Given the description of an element on the screen output the (x, y) to click on. 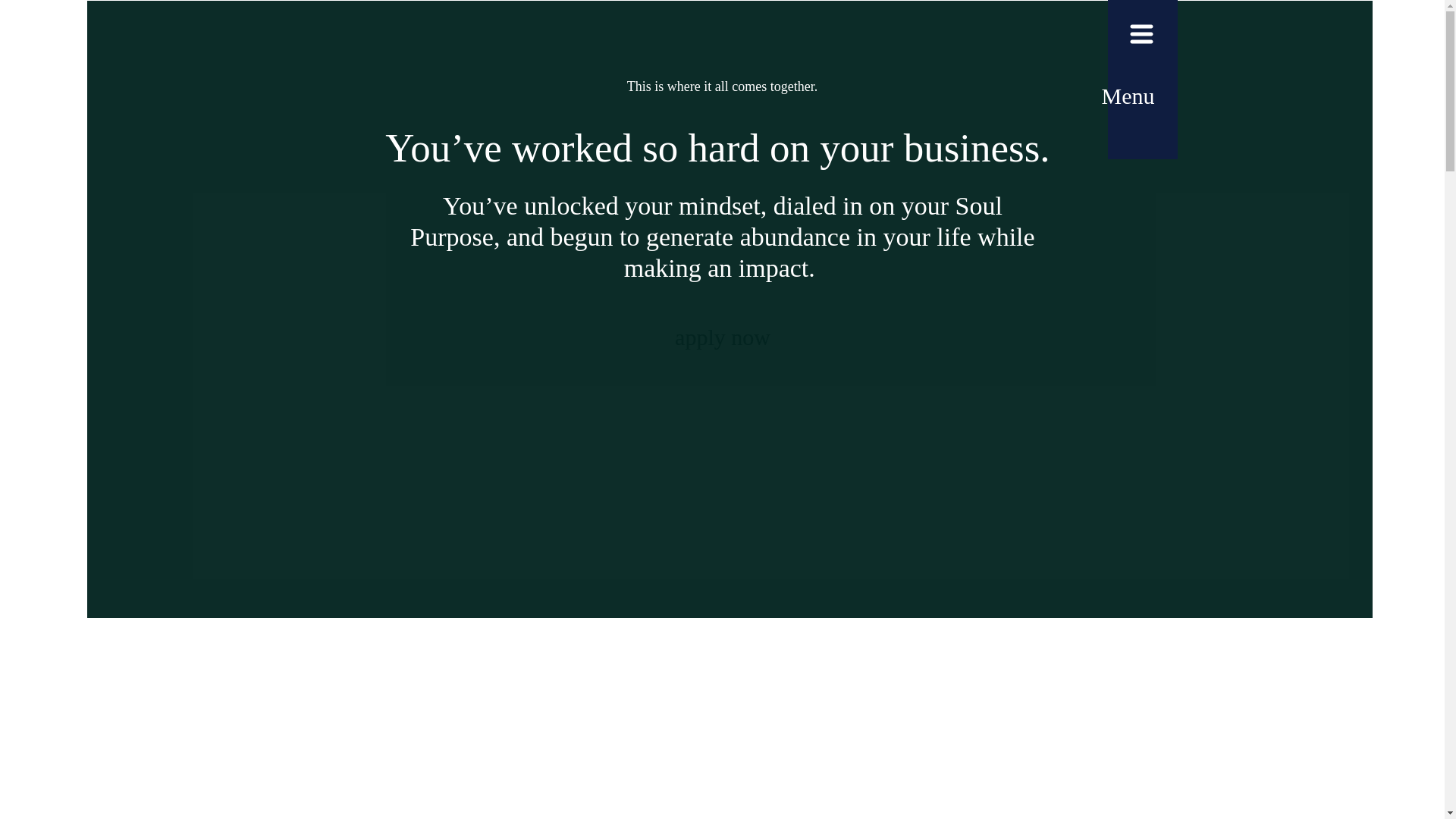
apply now (722, 339)
